Given the description of an element on the screen output the (x, y) to click on. 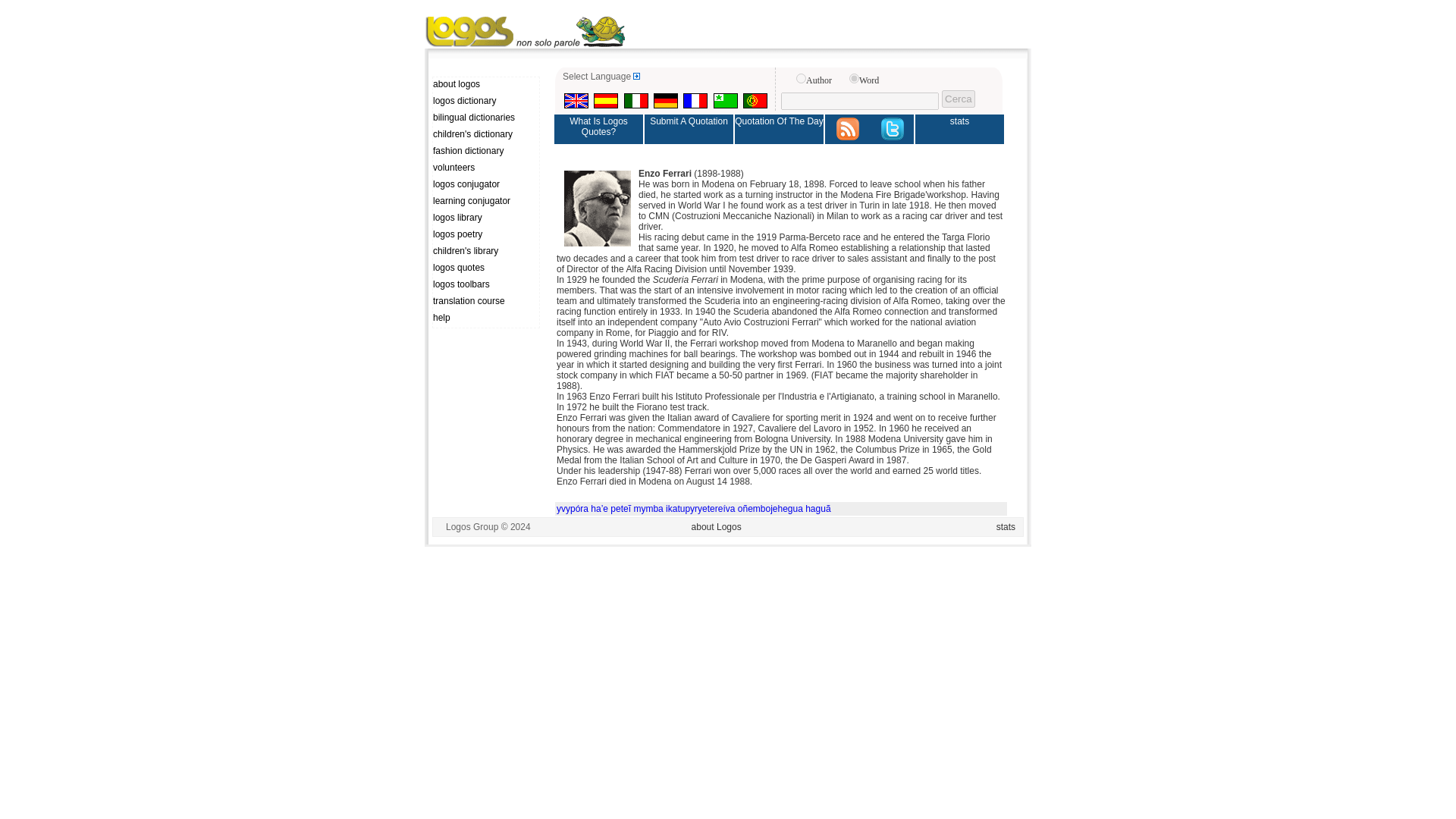
Quotation Of The Day (779, 129)
w (853, 78)
children's dictionary (485, 134)
fashion dictionary (485, 151)
Cerca (958, 98)
a (801, 78)
learning conjugator (485, 201)
logos conjugator (485, 184)
Cerca (958, 98)
about logos (485, 84)
